Given the description of an element on the screen output the (x, y) to click on. 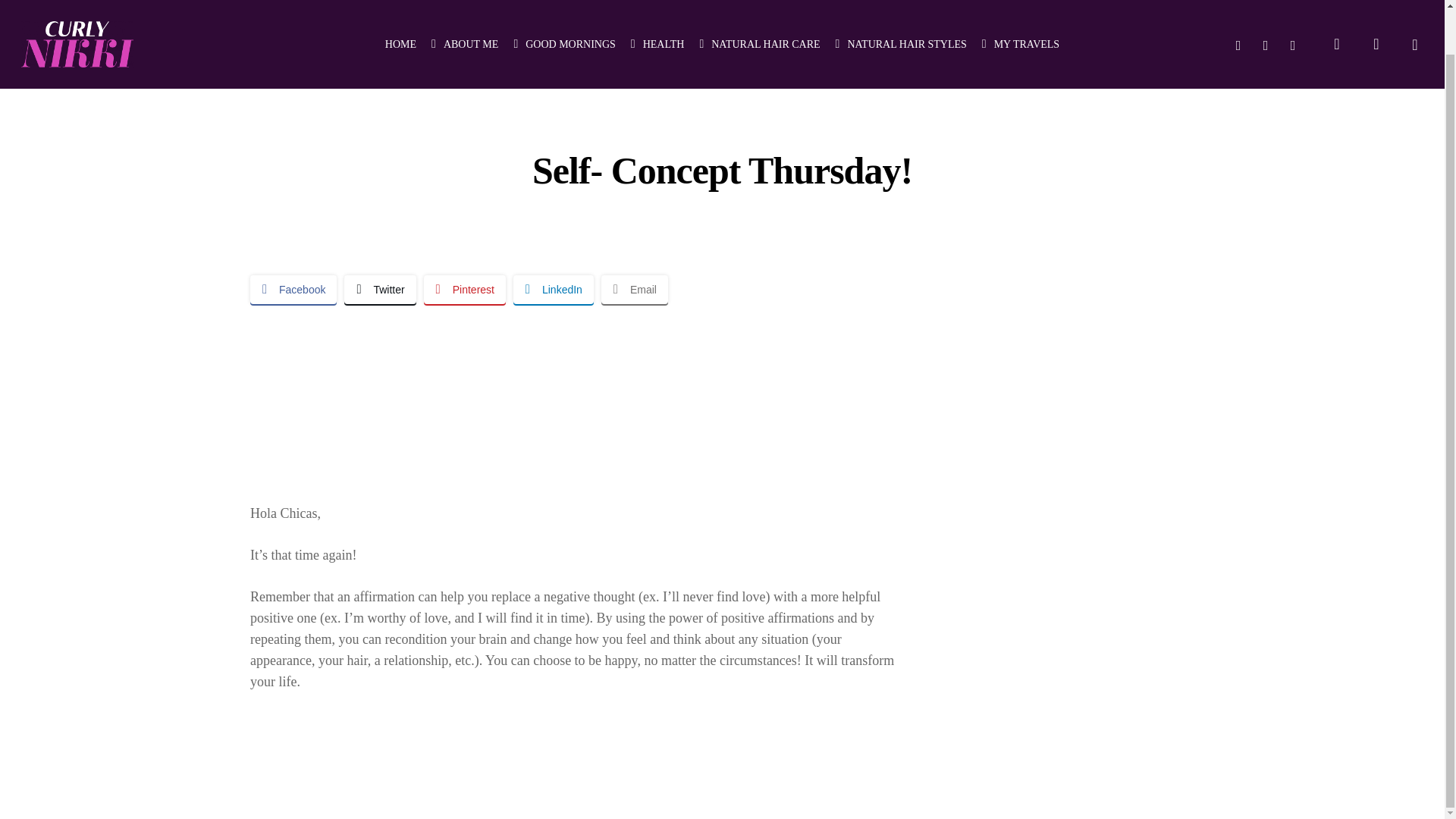
Self- Concept Thursday! (572, 393)
NATURAL HAIR CARE (758, 1)
ABOUT ME (463, 1)
GOOD MORNINGS (563, 1)
NATURAL HAIR STYLES (900, 1)
HOME (400, 1)
HEALTH (657, 1)
